Given the description of an element on the screen output the (x, y) to click on. 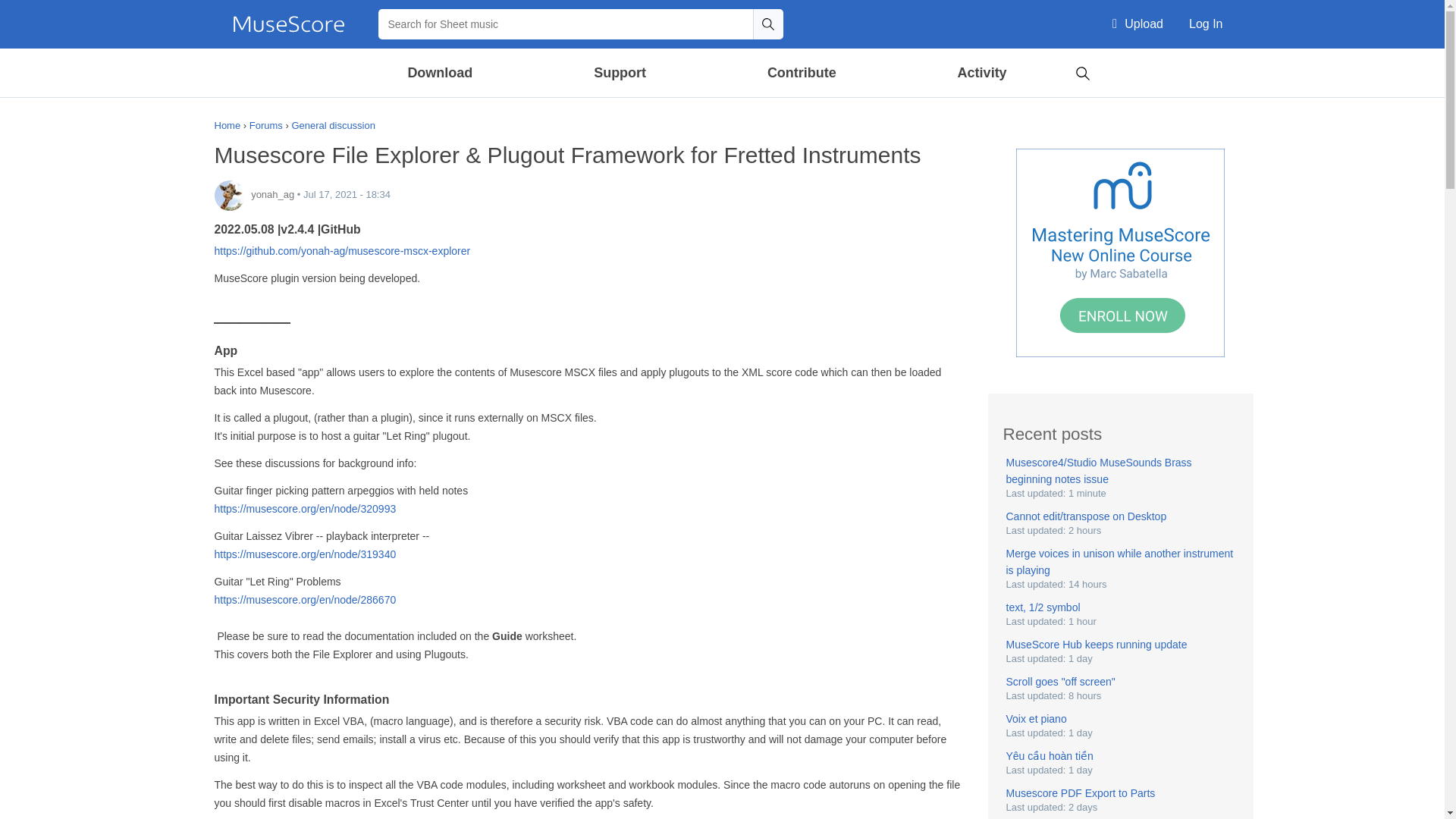
Activity (981, 72)
Support (619, 72)
Contribute (801, 72)
Upload (1137, 24)
Search (767, 24)
Search (767, 24)
MuseScore (287, 23)
Search (1082, 71)
Log In (1205, 24)
Home (287, 23)
Download (440, 72)
